Given the description of an element on the screen output the (x, y) to click on. 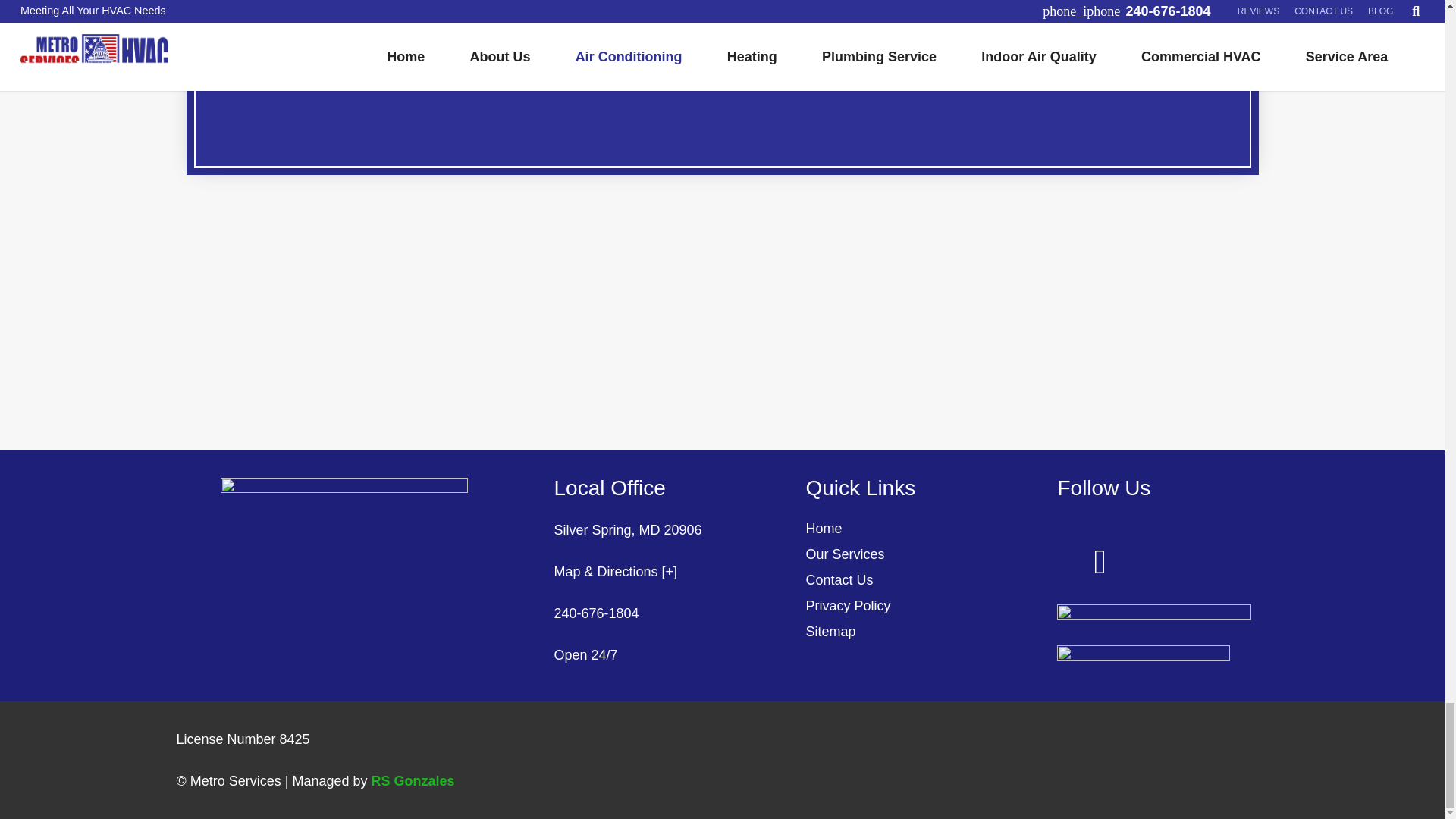
About Us (721, 19)
Facebook (1099, 562)
